Given the description of an element on the screen output the (x, y) to click on. 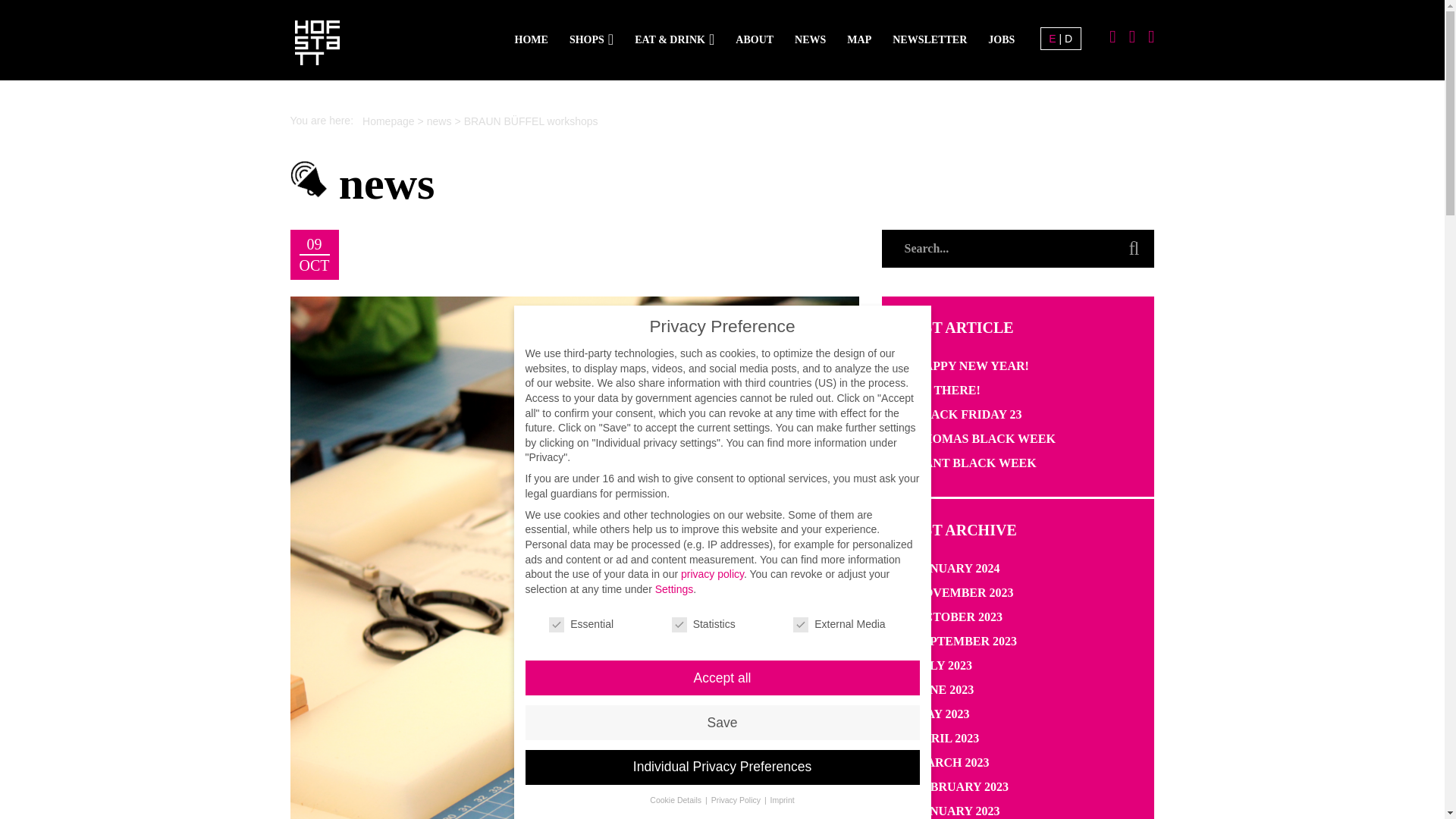
Homepage (388, 121)
NEWSLETTER (929, 40)
Homepage (388, 121)
